Given the description of an element on the screen output the (x, y) to click on. 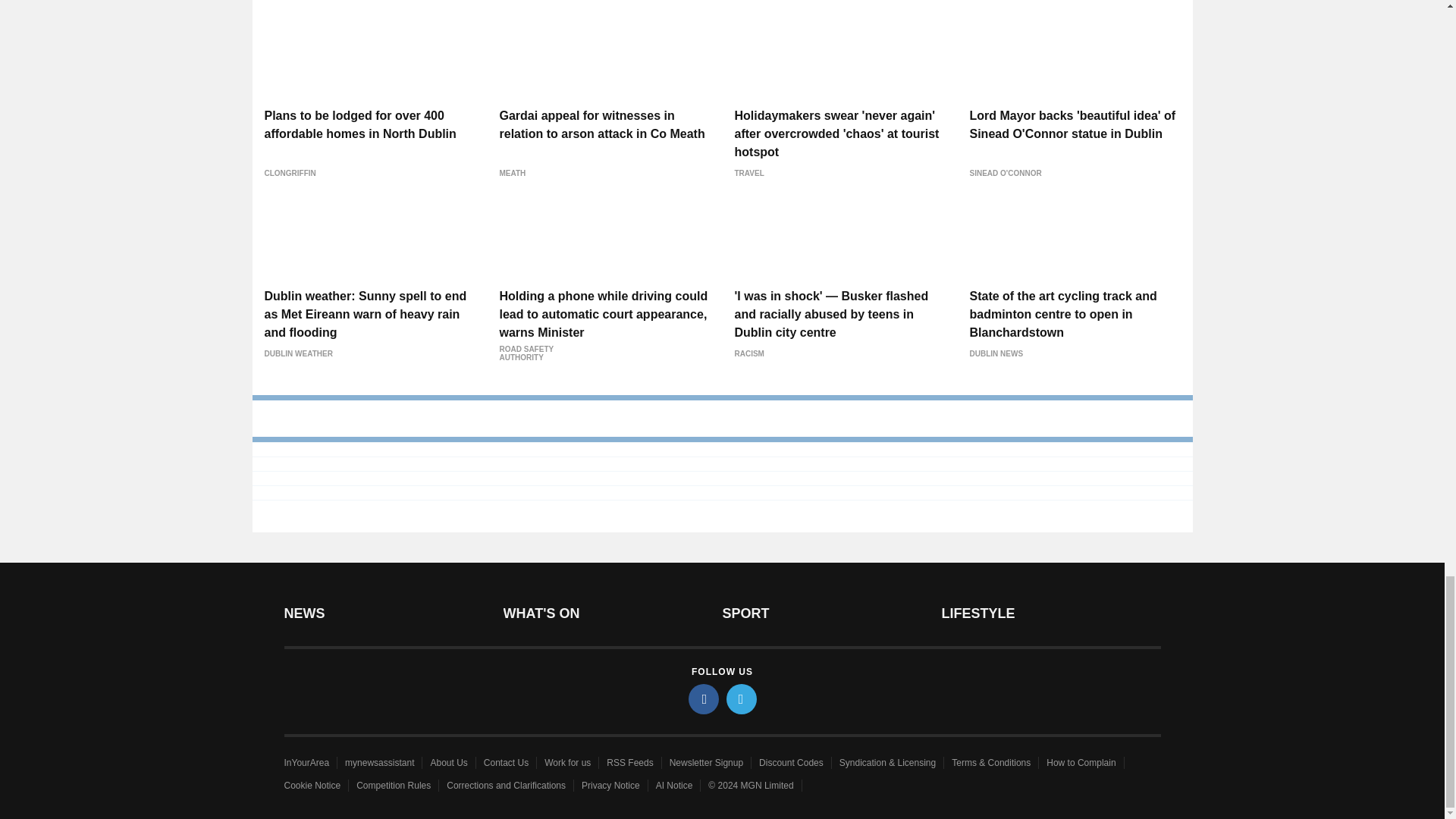
twitter (741, 698)
facebook (703, 698)
